Given the description of an element on the screen output the (x, y) to click on. 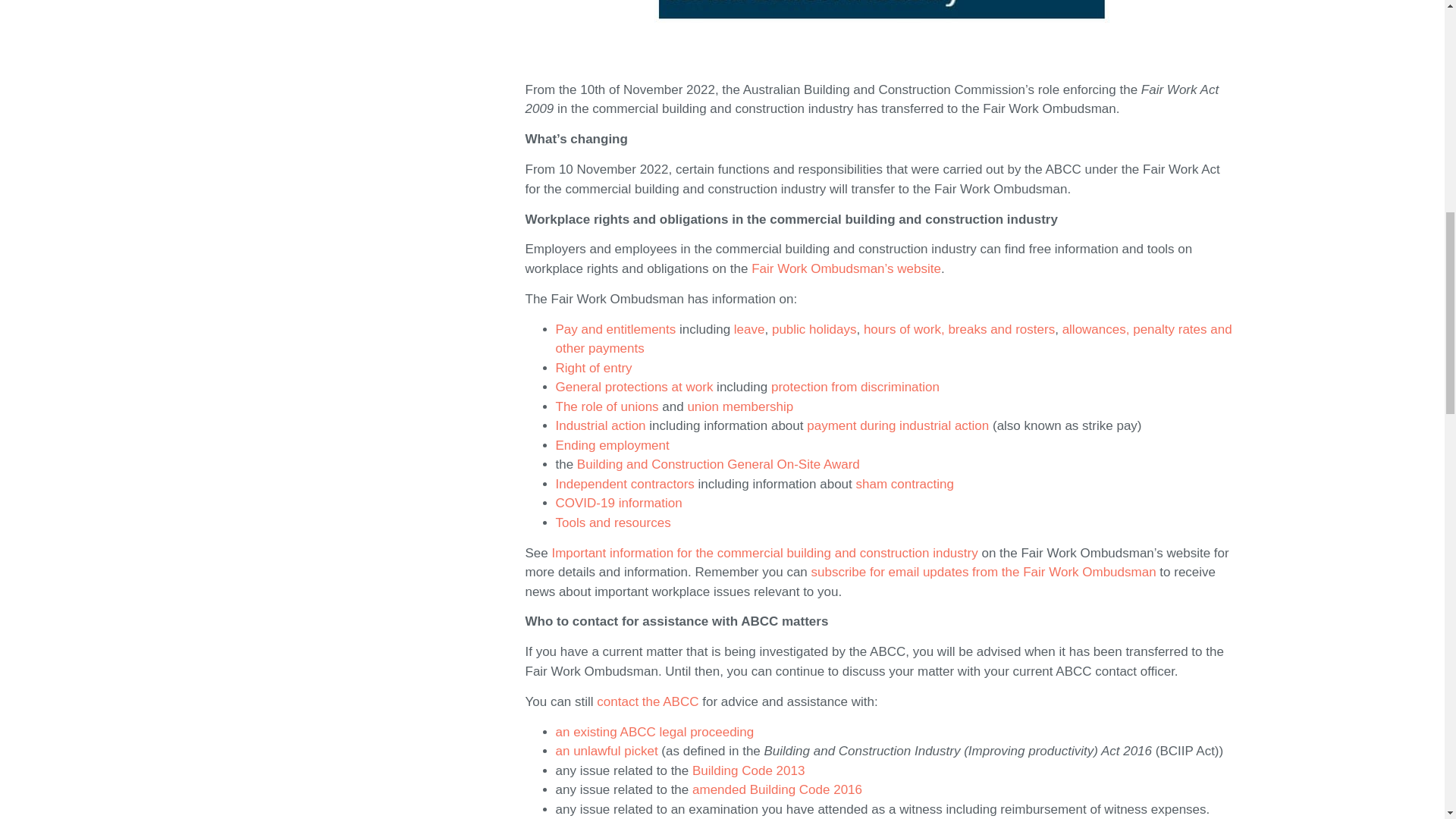
Pay and entitlements (614, 329)
allowances, penalty rates and other payments (892, 339)
public holidays (814, 329)
leave (749, 329)
hours of work, breaks and rosters (958, 329)
